Given the description of an element on the screen output the (x, y) to click on. 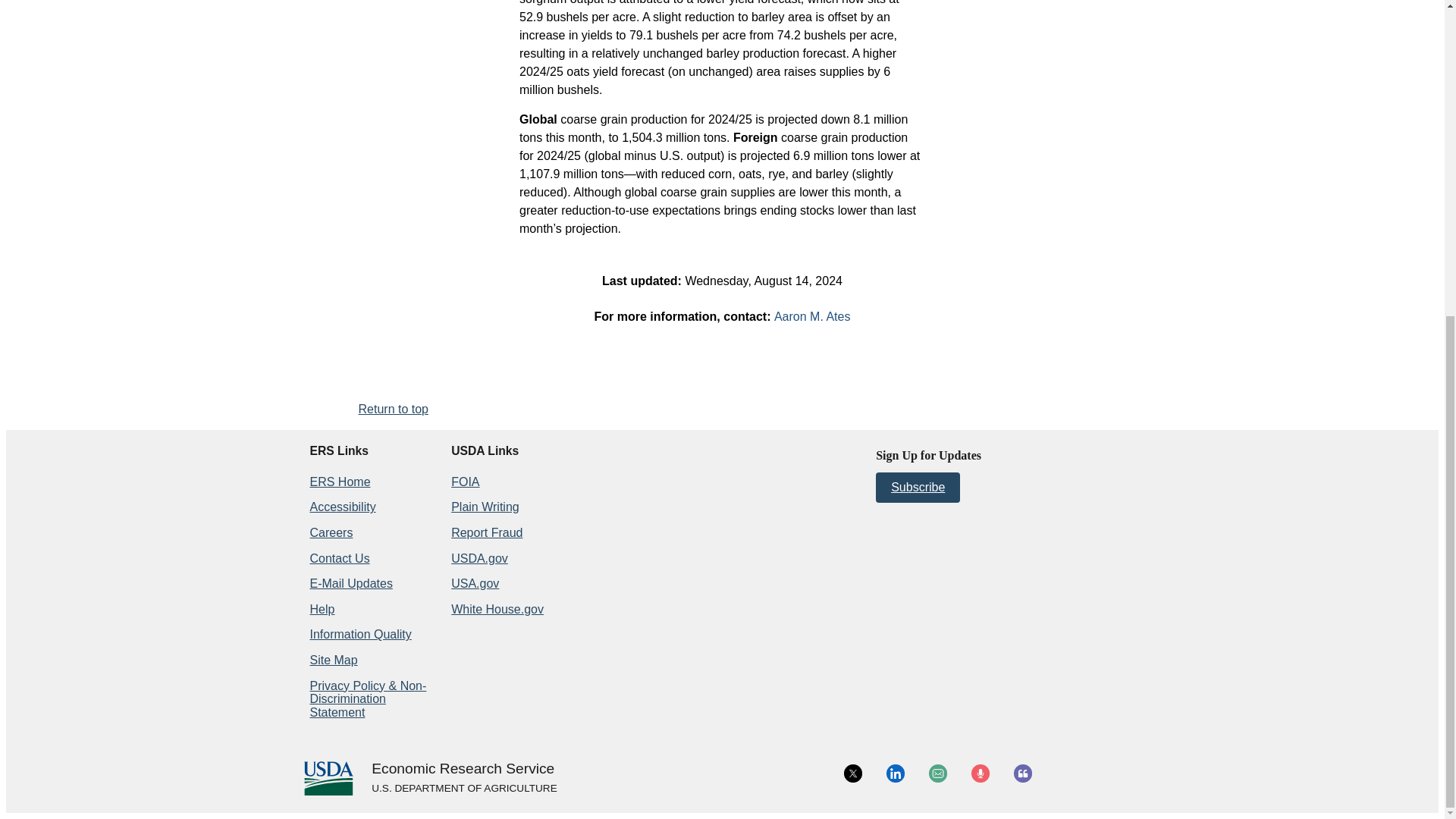
Blog Icon (1021, 773)
Email Icon (937, 773)
USDA.gov (463, 788)
Multimedia Icon (979, 773)
Home (462, 768)
LinkedIn icon (894, 773)
